Given the description of an element on the screen output the (x, y) to click on. 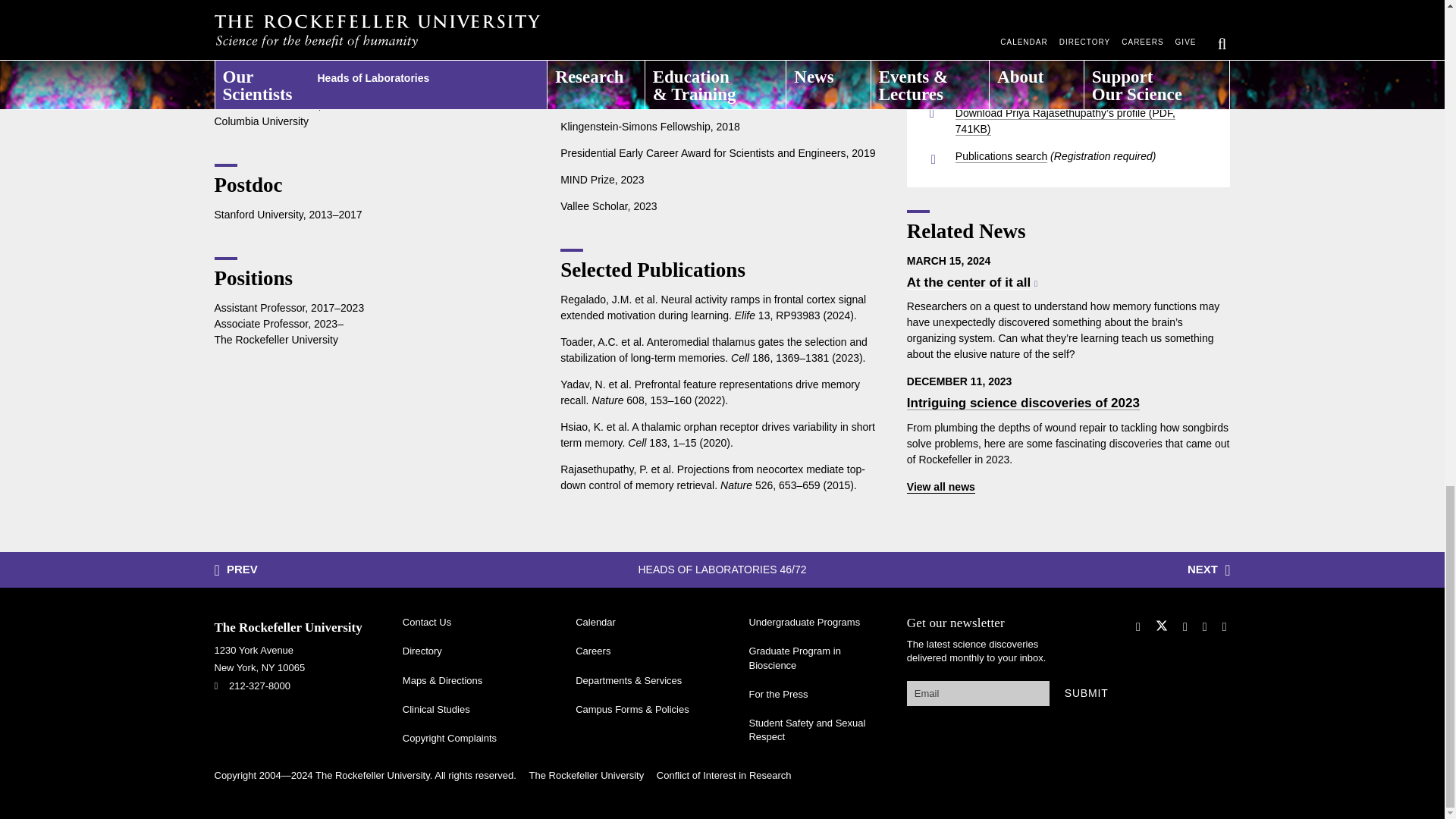
Submit (1086, 692)
Intriguing science discoveries of 2023 (1023, 402)
At the center of it all (971, 282)
